Given the description of an element on the screen output the (x, y) to click on. 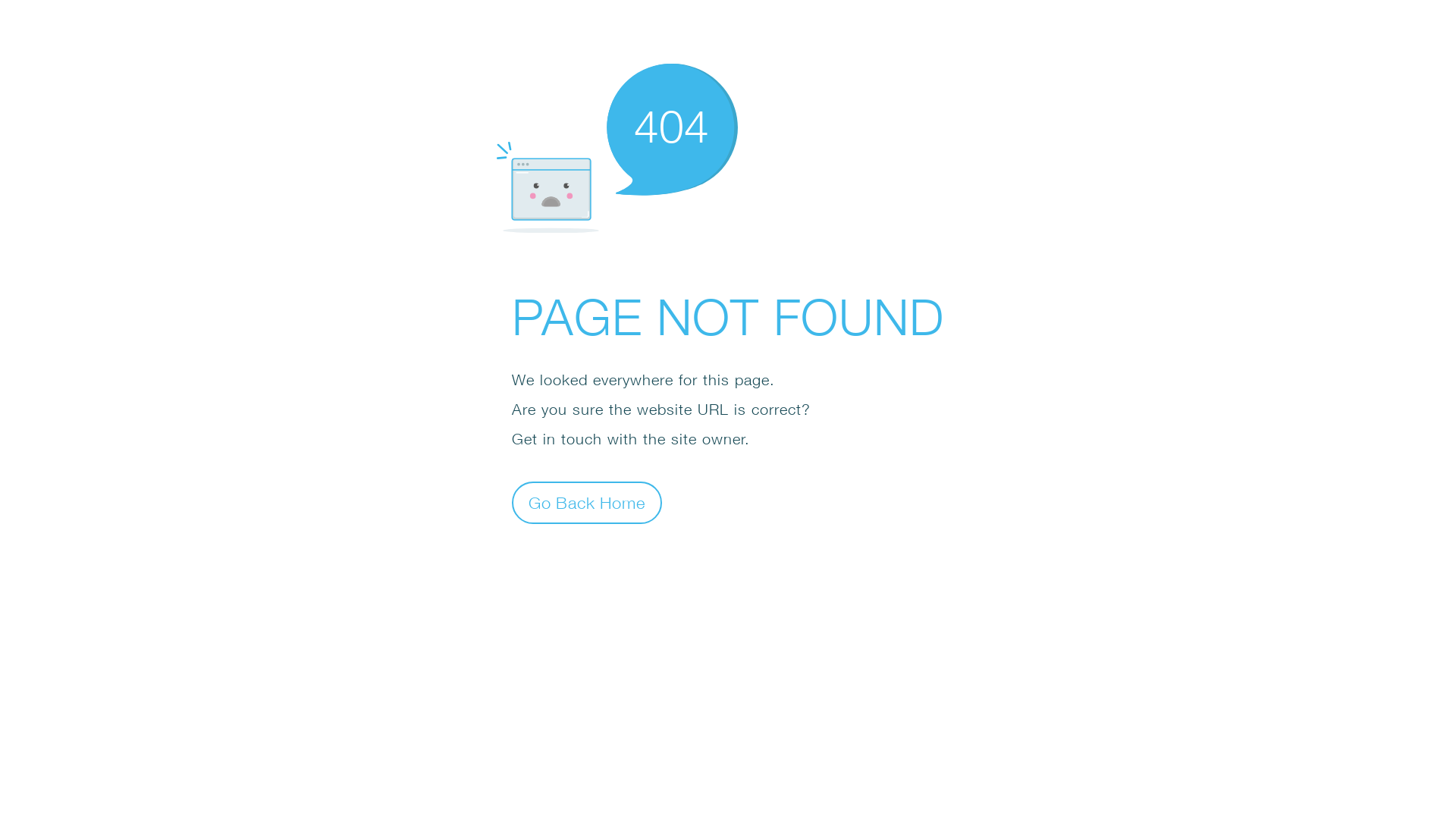
Go Back Home Element type: text (586, 502)
